Given the description of an element on the screen output the (x, y) to click on. 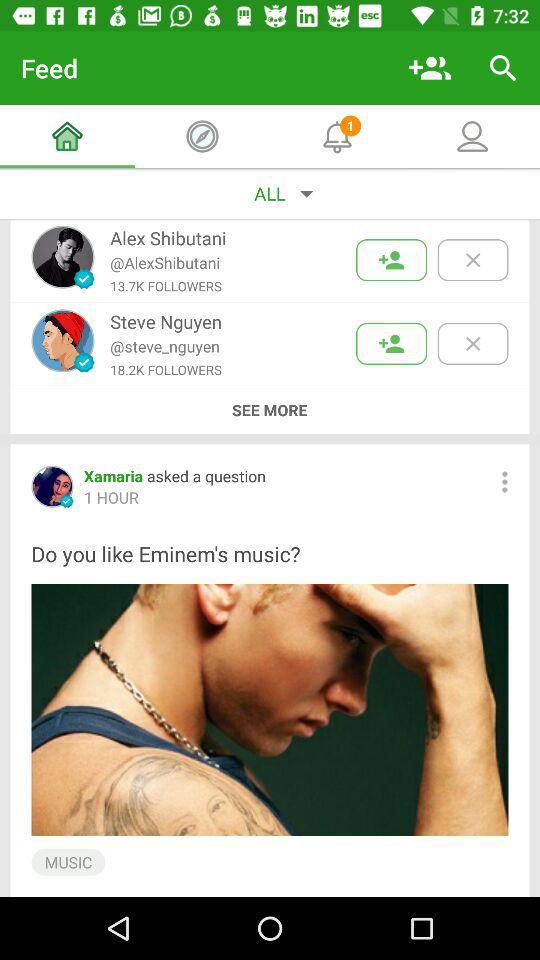
add friend (391, 343)
